Given the description of an element on the screen output the (x, y) to click on. 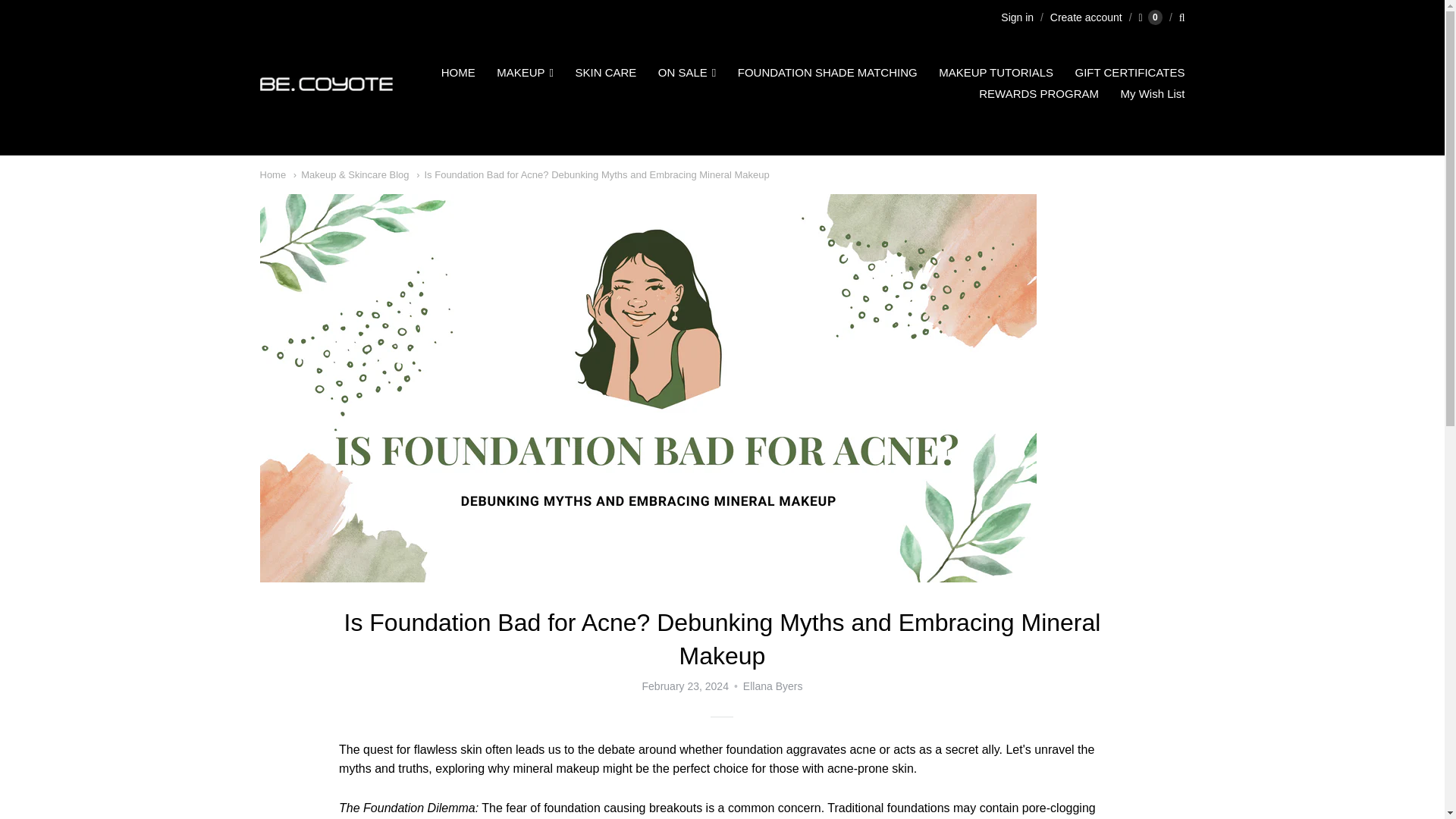
REWARDS PROGRAM (1038, 93)
Home (272, 174)
SKIN CARE (605, 72)
GIFT CERTIFICATES (1129, 72)
Be Coyote (325, 82)
MAKEUP TUTORIALS (996, 72)
My Wish List (1151, 93)
ON SALE (687, 72)
FOUNDATION SHADE MATCHING (827, 72)
HOME (458, 72)
0 (1149, 17)
Home (272, 174)
